Given the description of an element on the screen output the (x, y) to click on. 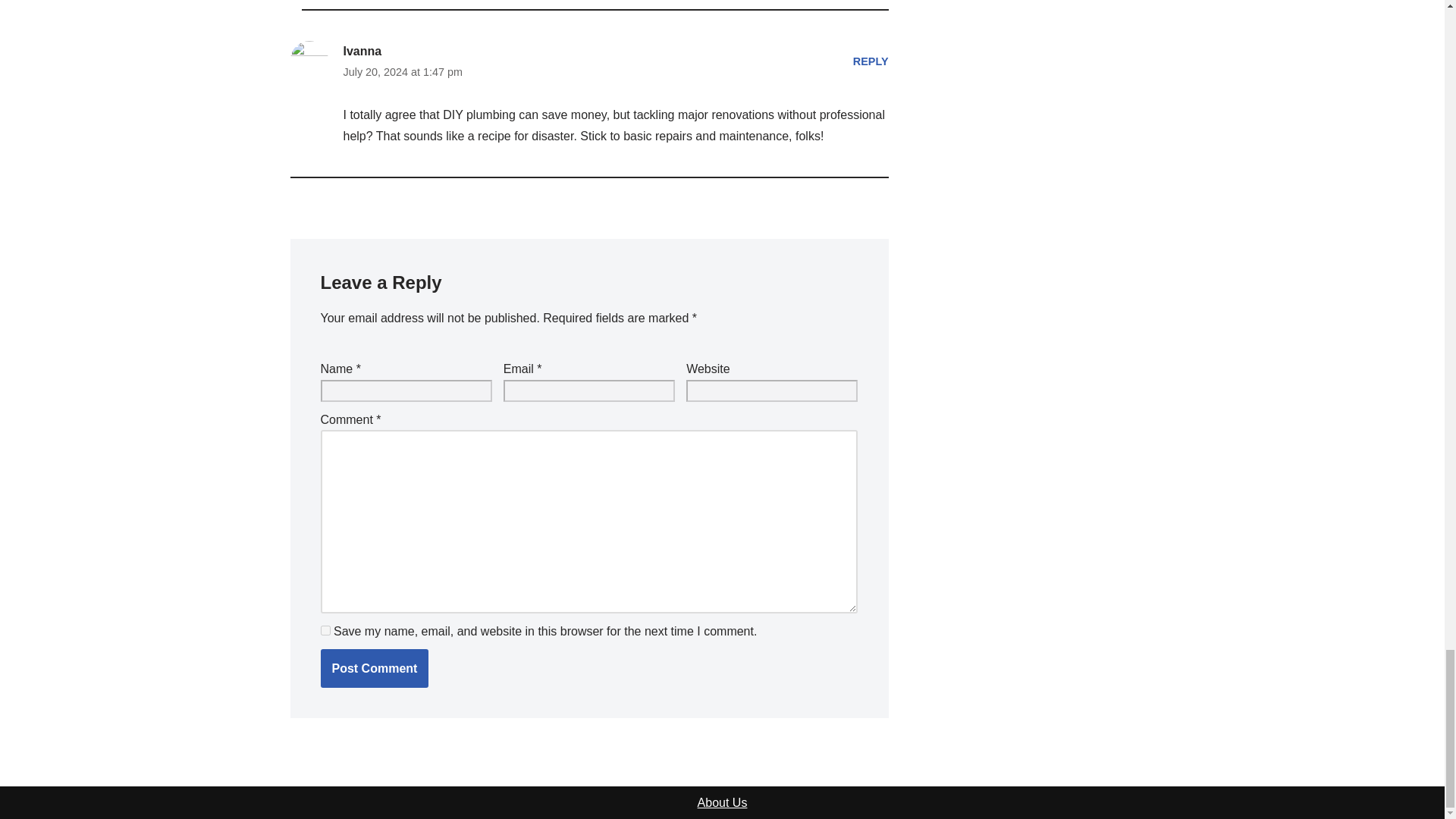
Post Comment (374, 668)
yes (325, 629)
